Given the description of an element on the screen output the (x, y) to click on. 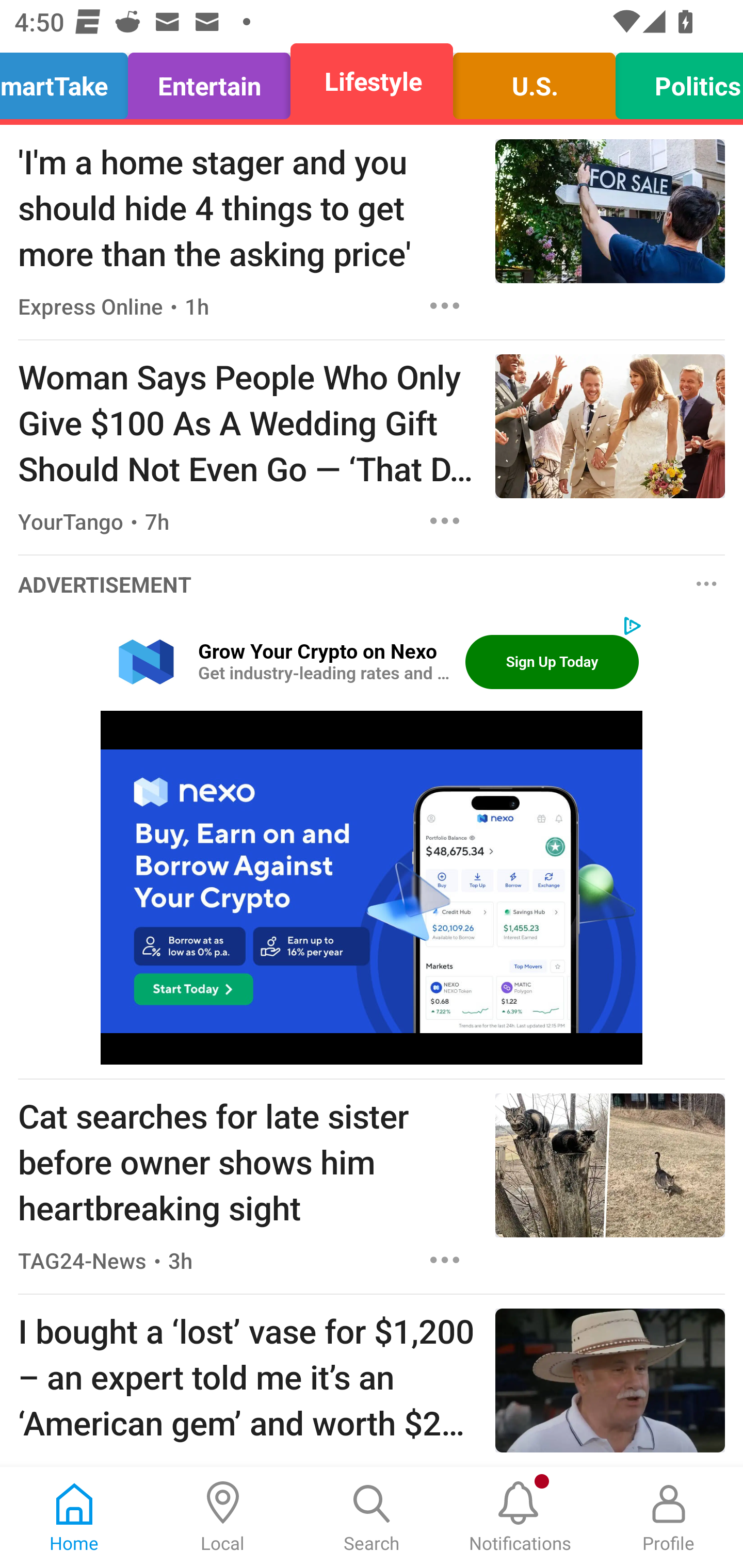
SmartTake (69, 81)
Entertain (209, 81)
Lifestyle (371, 81)
U.S. (534, 81)
Politics (673, 81)
Options (444, 305)
Options (444, 520)
Options (706, 584)
Options (444, 1259)
Local (222, 1517)
Search (371, 1517)
Notifications, New notification Notifications (519, 1517)
Profile (668, 1517)
